Given the description of an element on the screen output the (x, y) to click on. 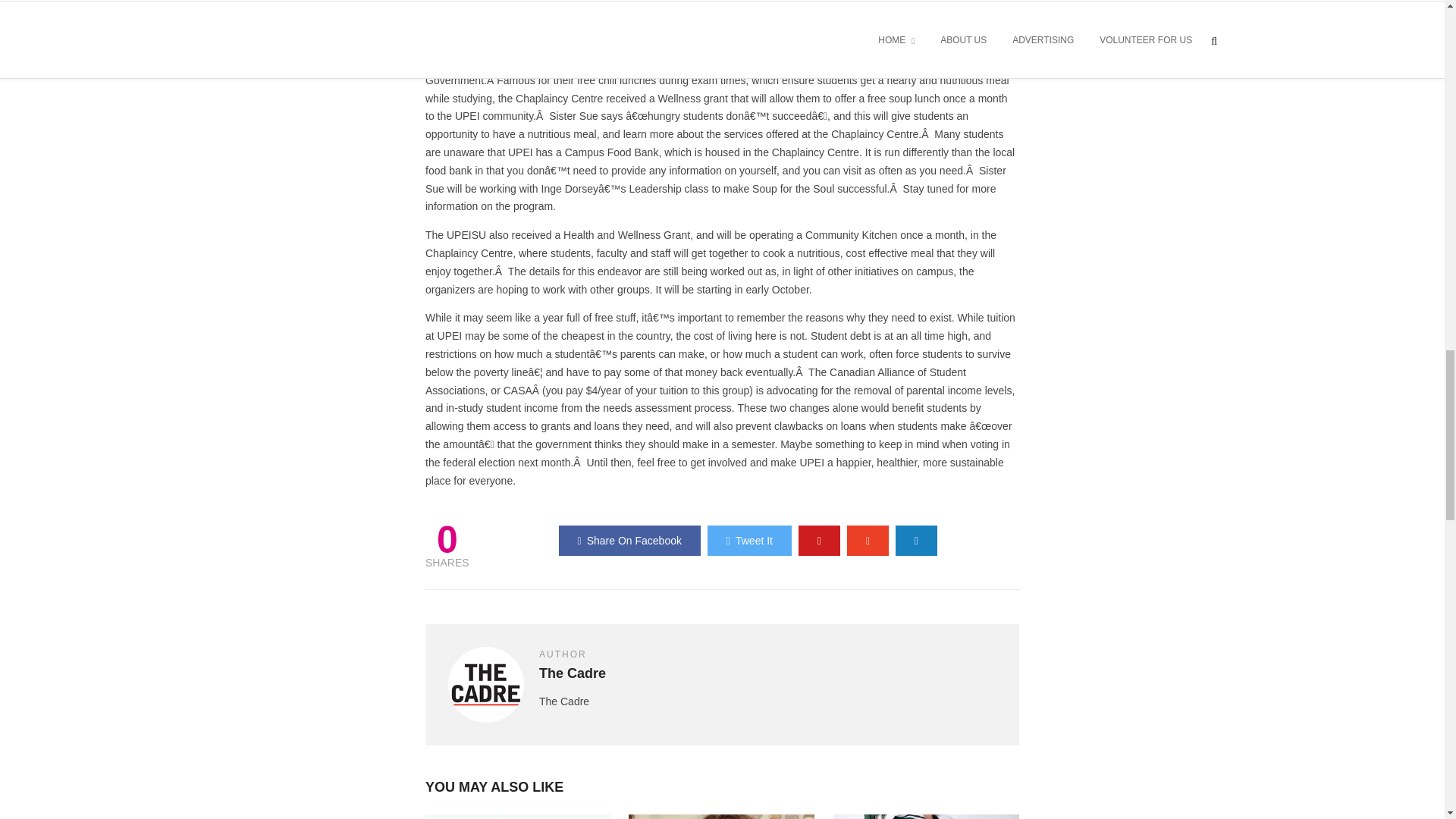
Share On Pinterest (818, 540)
Share On Facebook (629, 540)
Tweet It (749, 540)
Share On Twitter (749, 540)
Share by Email (916, 540)
Share On Facebook (629, 540)
